Given the description of an element on the screen output the (x, y) to click on. 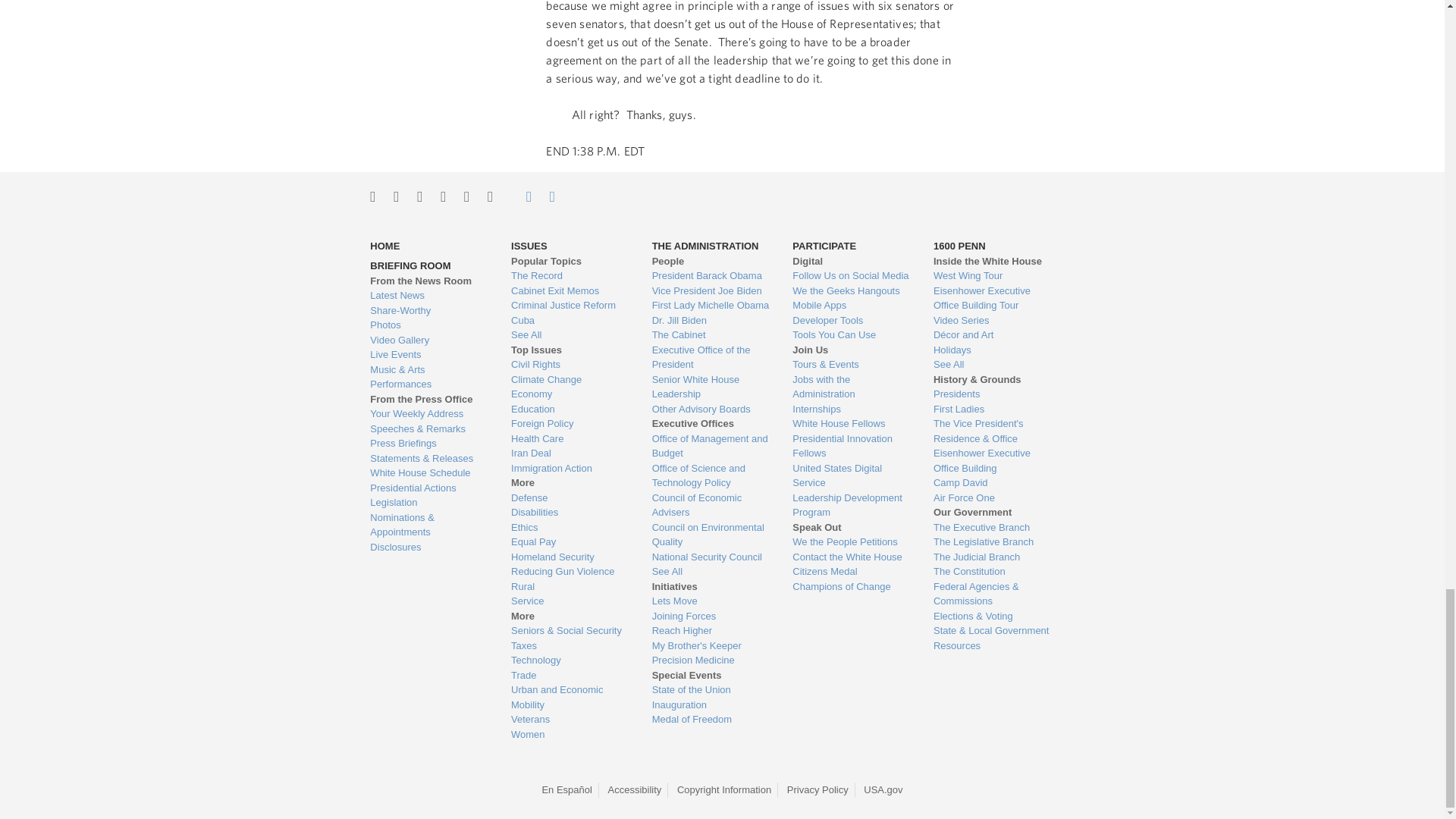
Read the latest blog posts from 1600 Pennsylvania Ave (428, 295)
Check out the most popular infographics and videos (428, 310)
View the photo of the day and other galleries (428, 324)
Watch behind-the-scenes videos and more (428, 340)
Contact the Whitehouse. (521, 196)
